Given the description of an element on the screen output the (x, y) to click on. 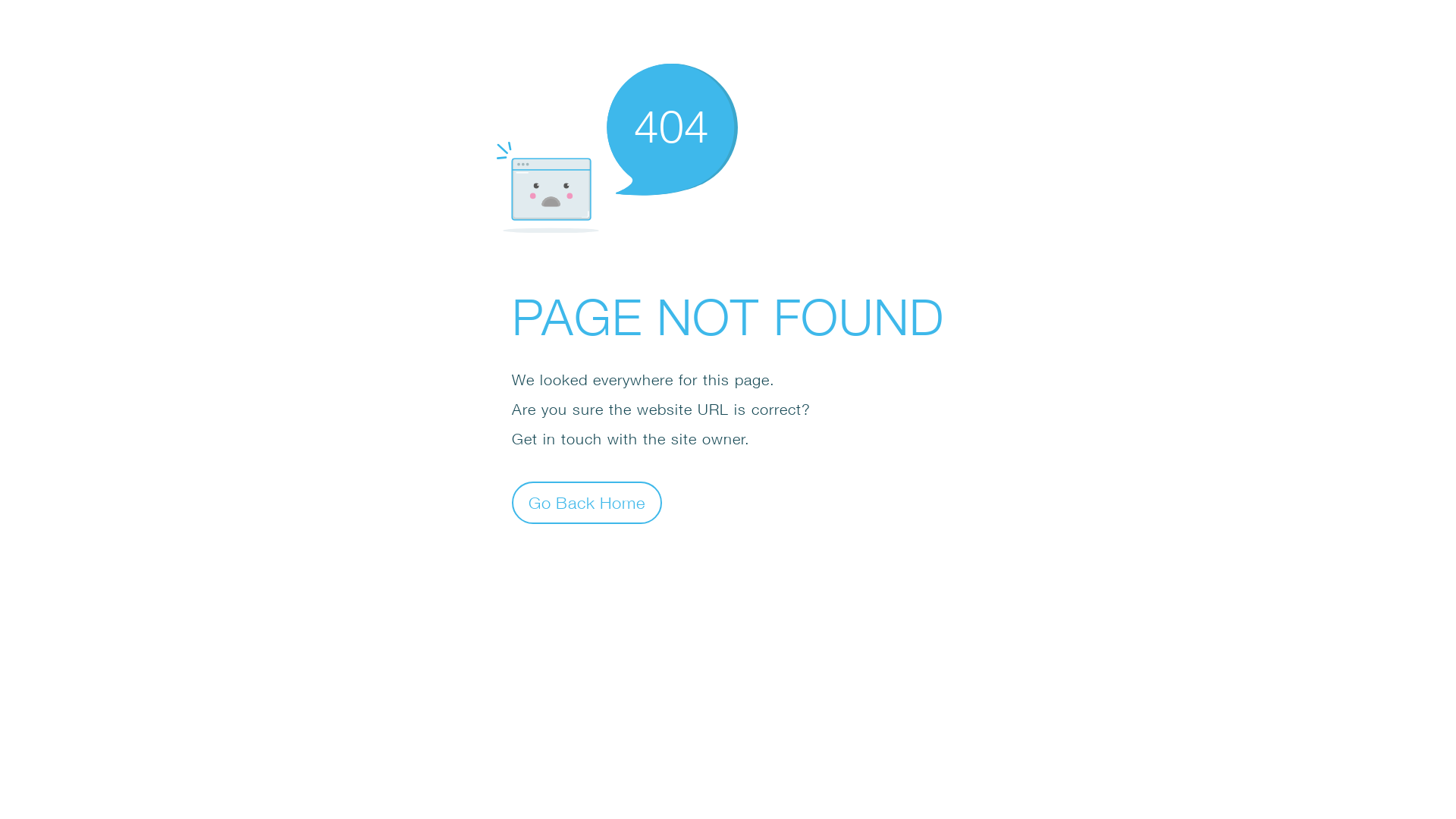
Go Back Home Element type: text (586, 502)
